Given the description of an element on the screen output the (x, y) to click on. 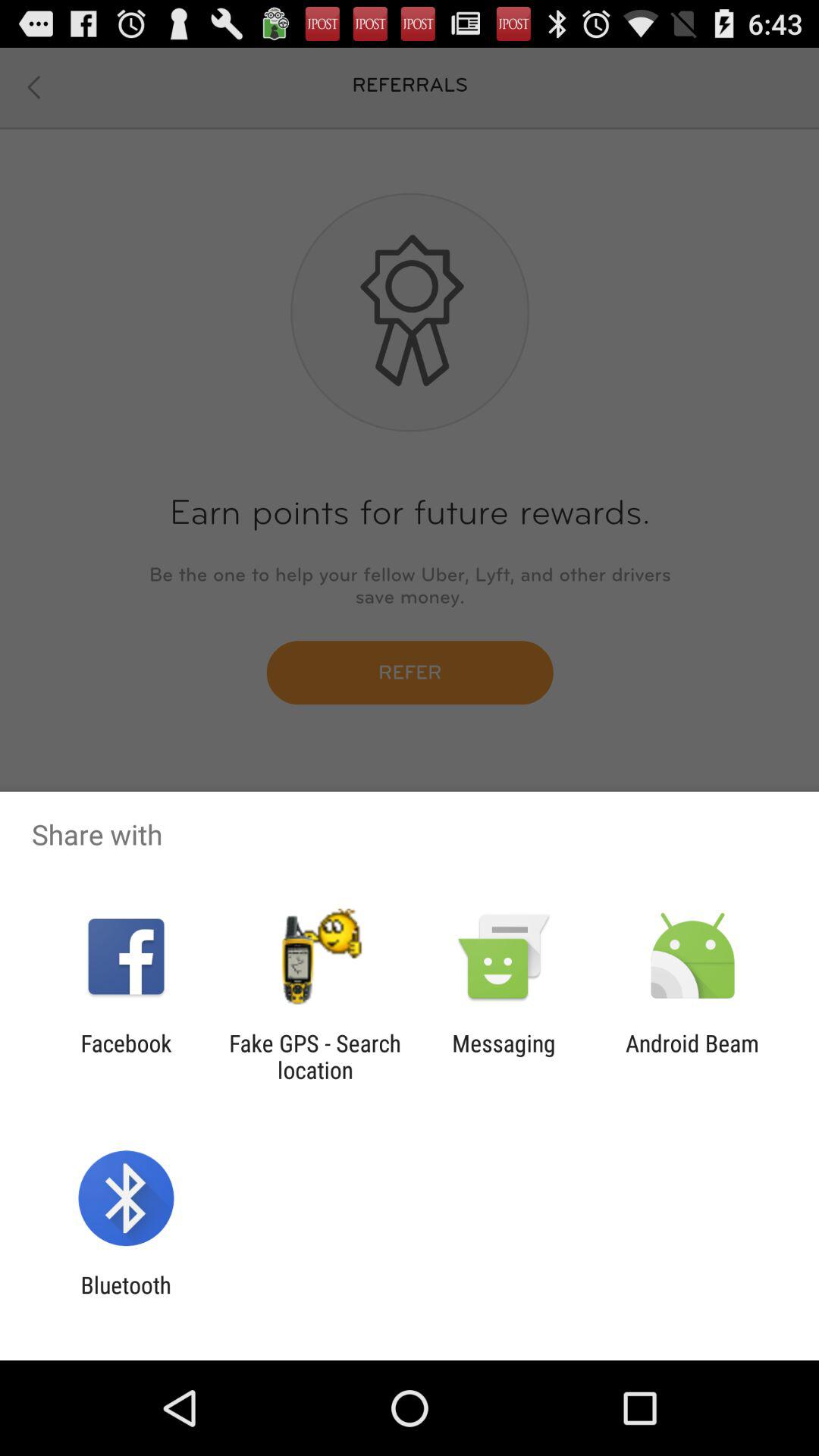
scroll until bluetooth app (125, 1298)
